Given the description of an element on the screen output the (x, y) to click on. 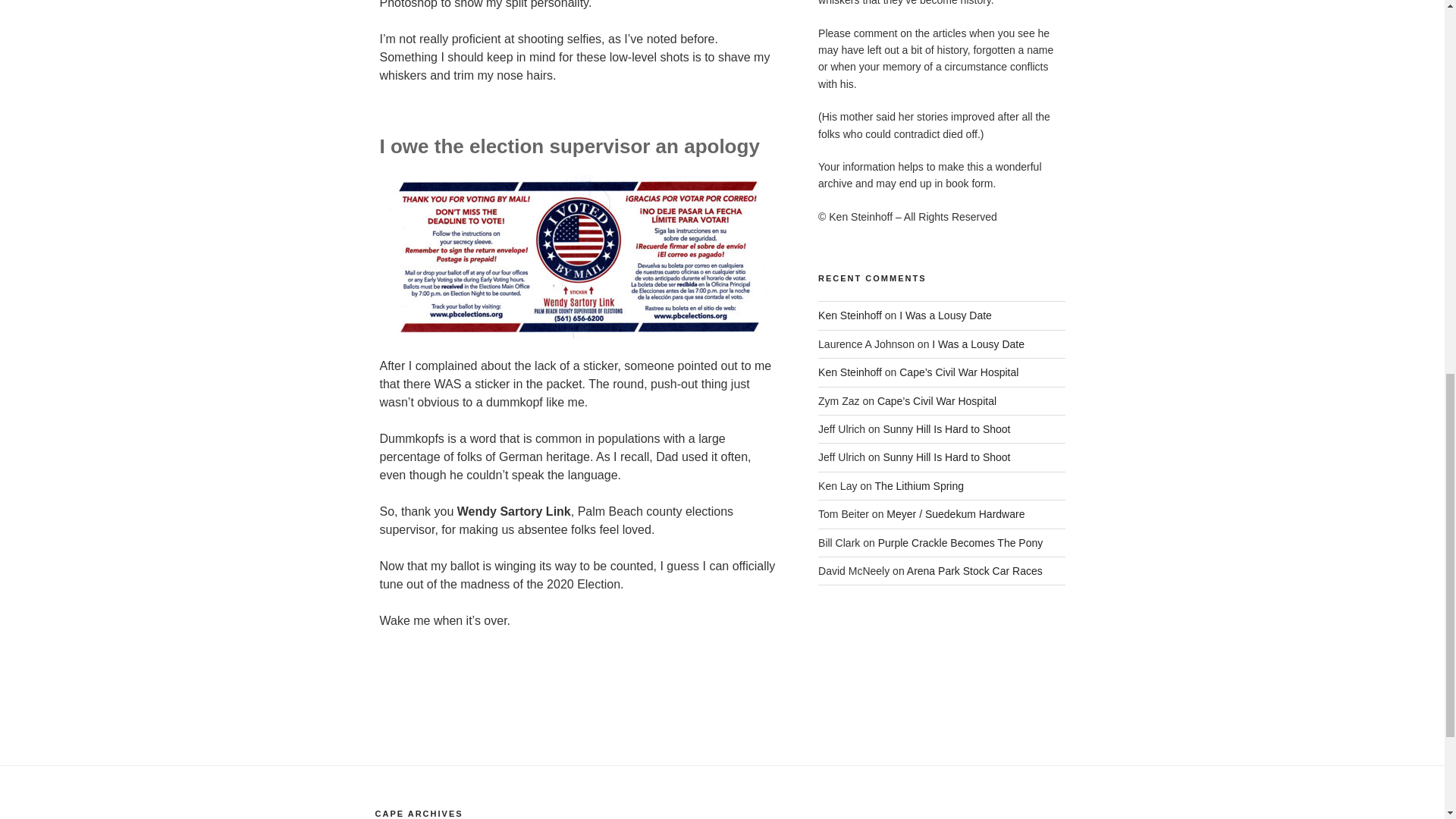
I Was a Lousy Date (945, 315)
Sunny Hill Is Hard to Shoot (946, 428)
The Lithium Spring (919, 485)
Sunny Hill Is Hard to Shoot (946, 457)
Ken Steinhoff (850, 372)
Arena Park Stock Car Races (974, 571)
Purple Crackle Becomes The Pony (960, 542)
Ken Steinhoff (850, 315)
I Was a Lousy Date (978, 344)
